Given the description of an element on the screen output the (x, y) to click on. 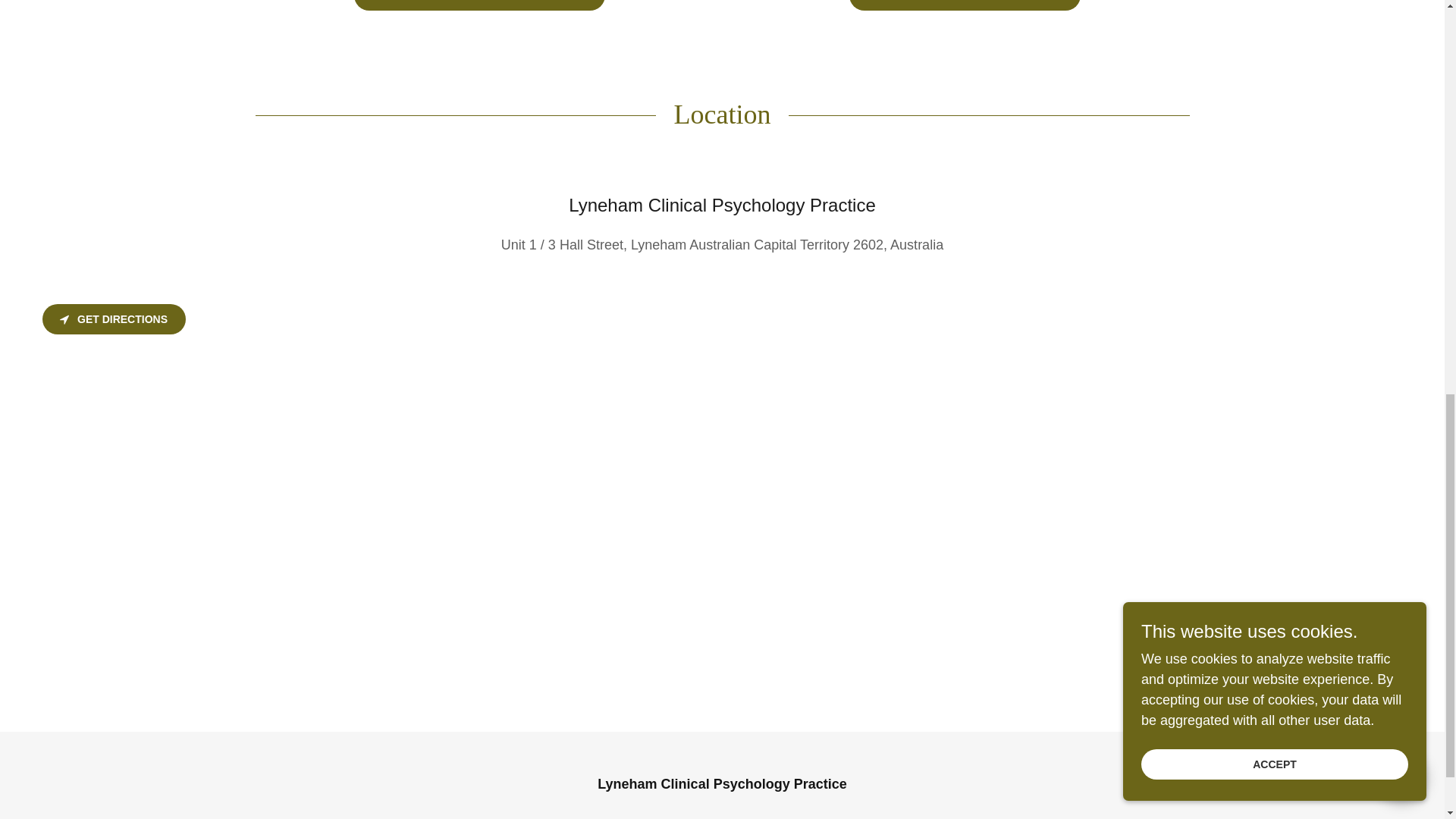
BOOK AN APPOINTMENT WITH REBECCA (479, 5)
GET DIRECTIONS (114, 318)
BOOK AN APPOINTMENT WITH KEVIN (964, 5)
